Given the description of an element on the screen output the (x, y) to click on. 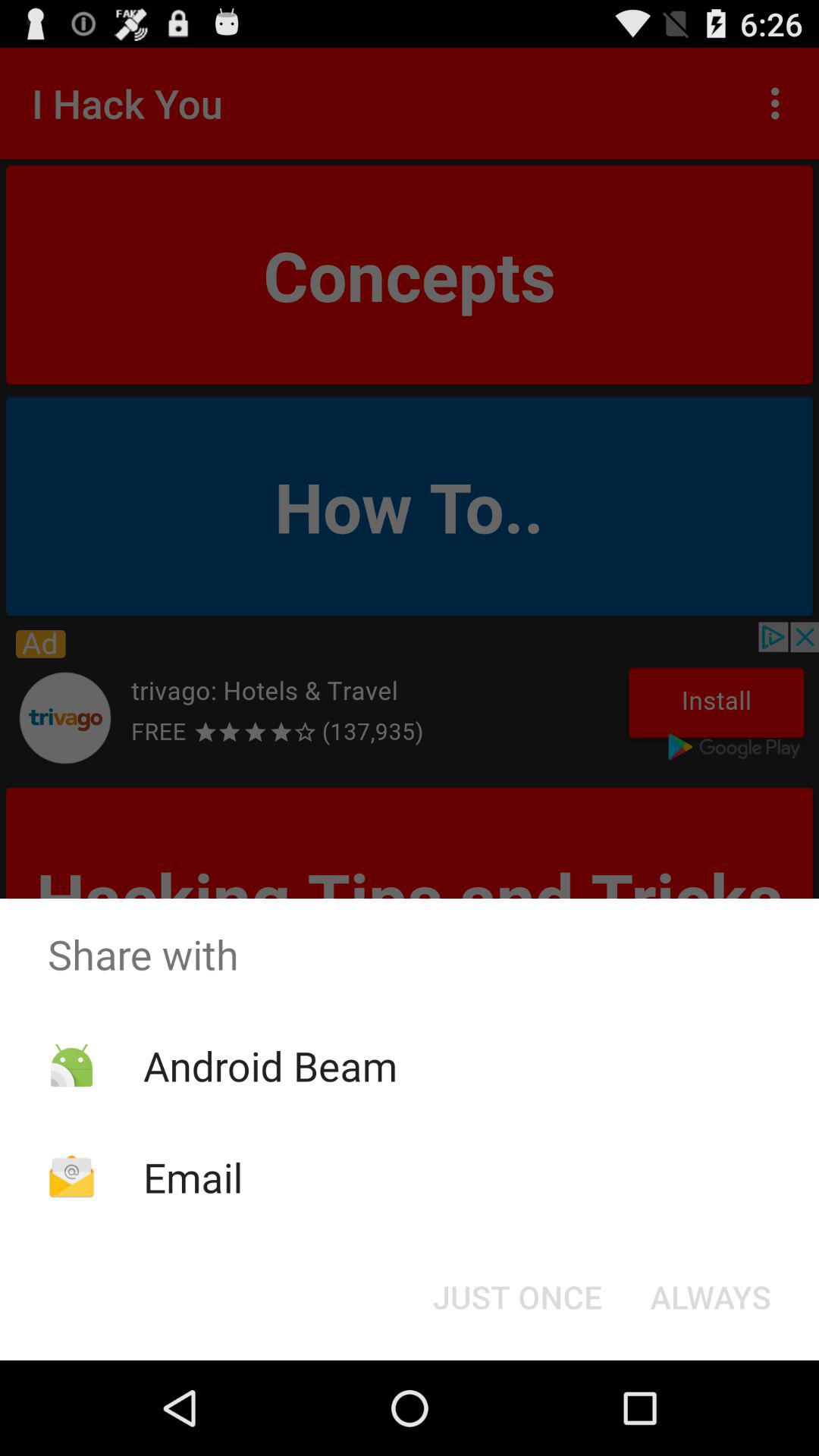
turn on just once item (517, 1296)
